Given the description of an element on the screen output the (x, y) to click on. 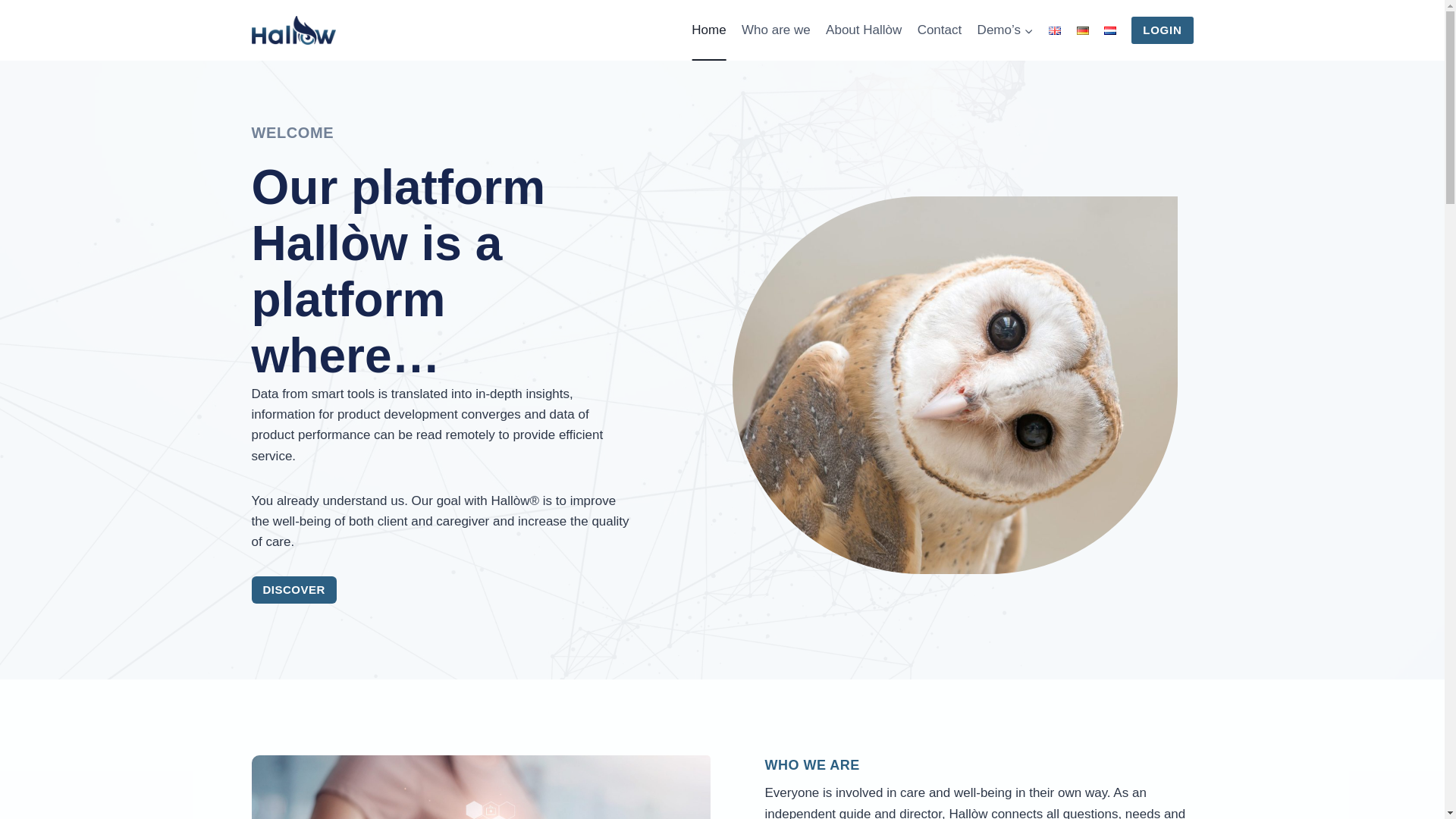
LOGIN (1161, 30)
Who are we (775, 30)
DISCOVER (293, 589)
Contact (938, 30)
